Given the description of an element on the screen output the (x, y) to click on. 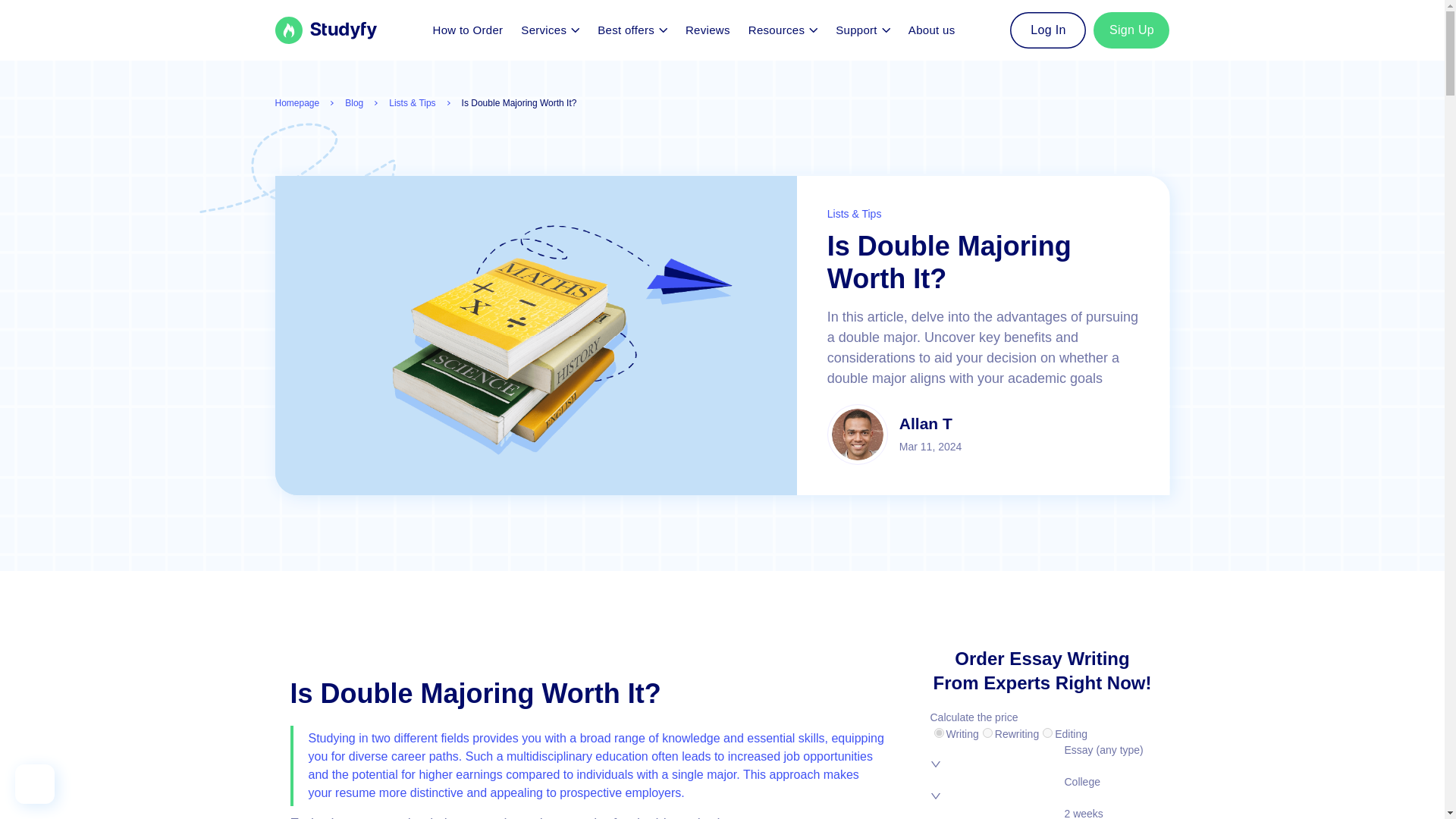
About us (931, 30)
How to Order (467, 30)
Homepage (296, 102)
Blog (353, 102)
Reviews (708, 30)
Log In (1048, 30)
Sign Up (1131, 30)
